Given the description of an element on the screen output the (x, y) to click on. 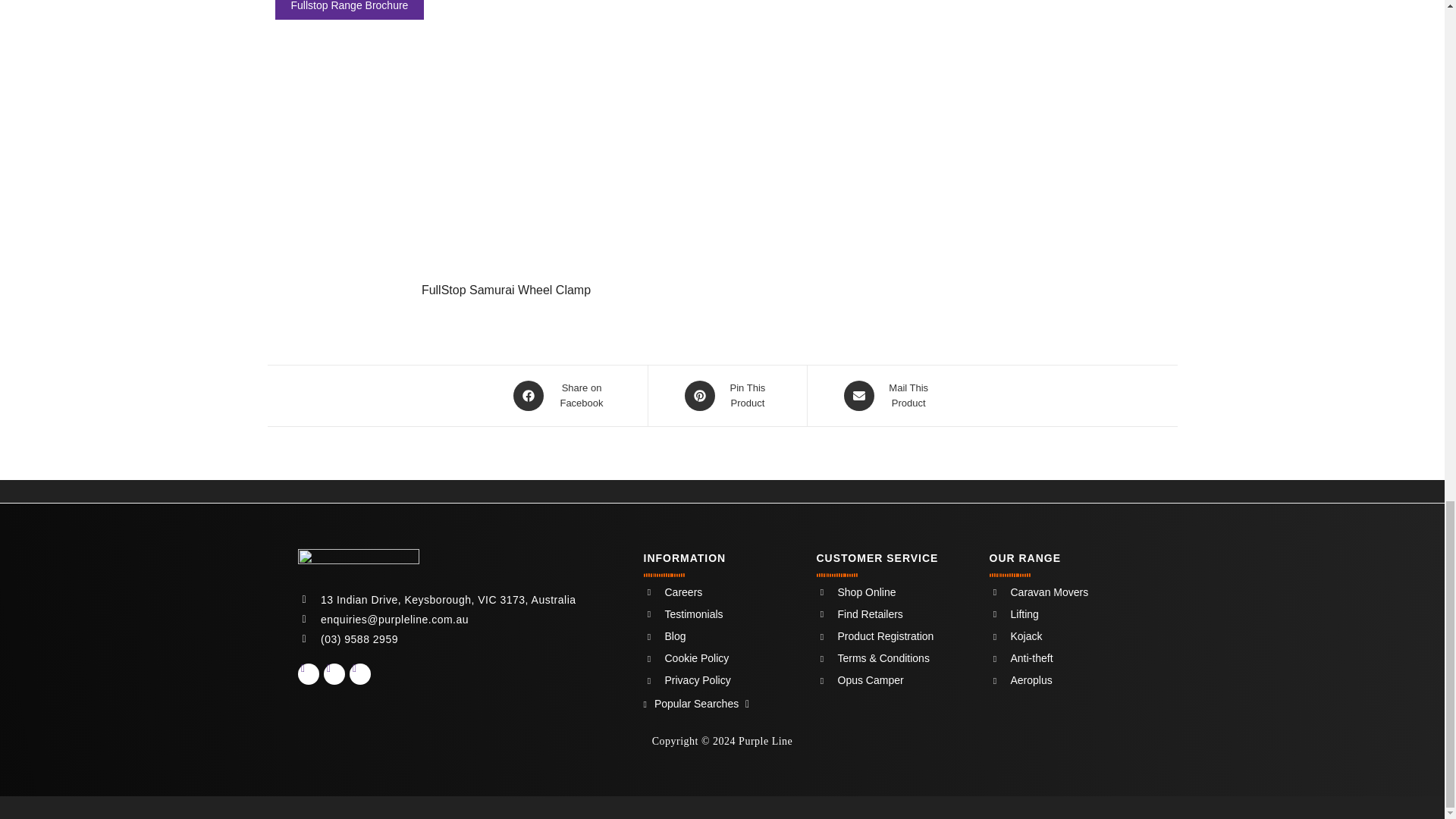
FullStop Samurai Wheel Clamp (506, 160)
